Given the description of an element on the screen output the (x, y) to click on. 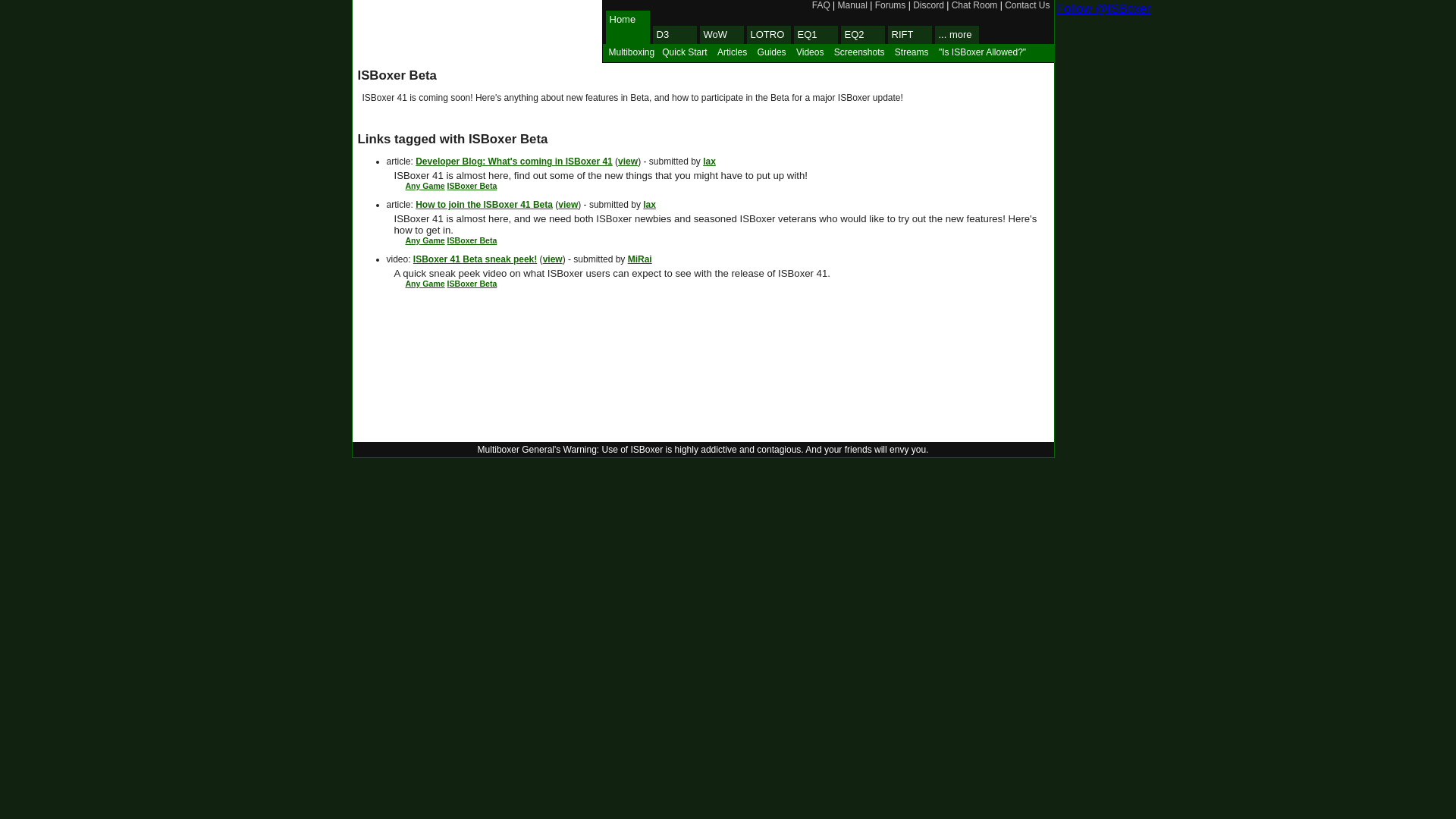
ISBoxer (477, 31)
Any Game (424, 283)
LOTRO (767, 34)
ISBoxer Beta (471, 239)
MiRai (639, 258)
D3 (673, 34)
ISBoxer Beta (471, 185)
Streams (910, 51)
Manual (852, 5)
view (627, 161)
view (567, 204)
Quick Start (684, 51)
view (552, 258)
Videos (809, 51)
Discord (927, 5)
